Given the description of an element on the screen output the (x, y) to click on. 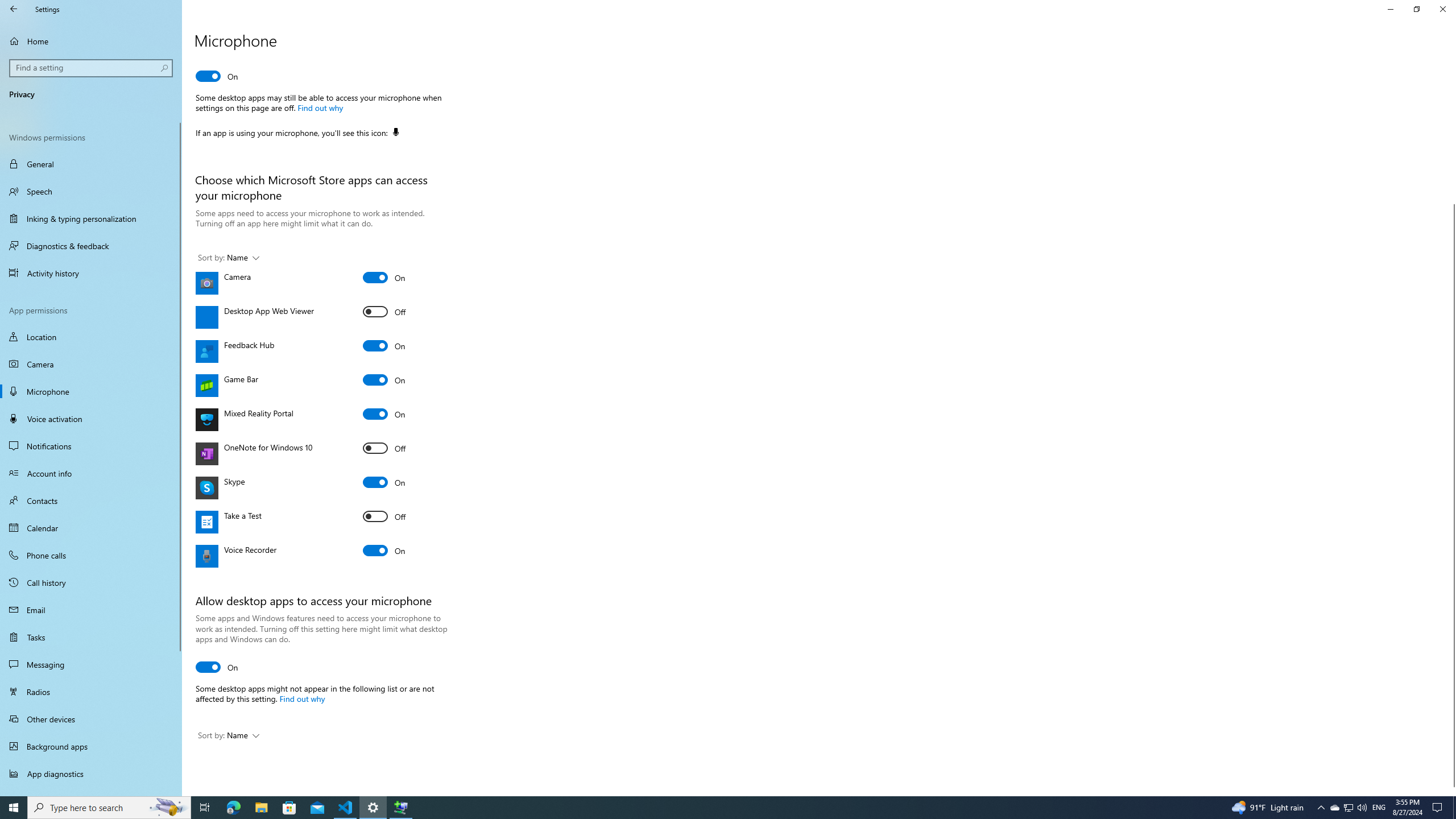
Allow apps to access your microphone (216, 76)
Vertical Small Decrease (1451, 58)
Skype (384, 482)
App diagnostics (91, 773)
Diagnostics & feedback (91, 245)
Vertical Small Increase (1451, 791)
